Given the description of an element on the screen output the (x, y) to click on. 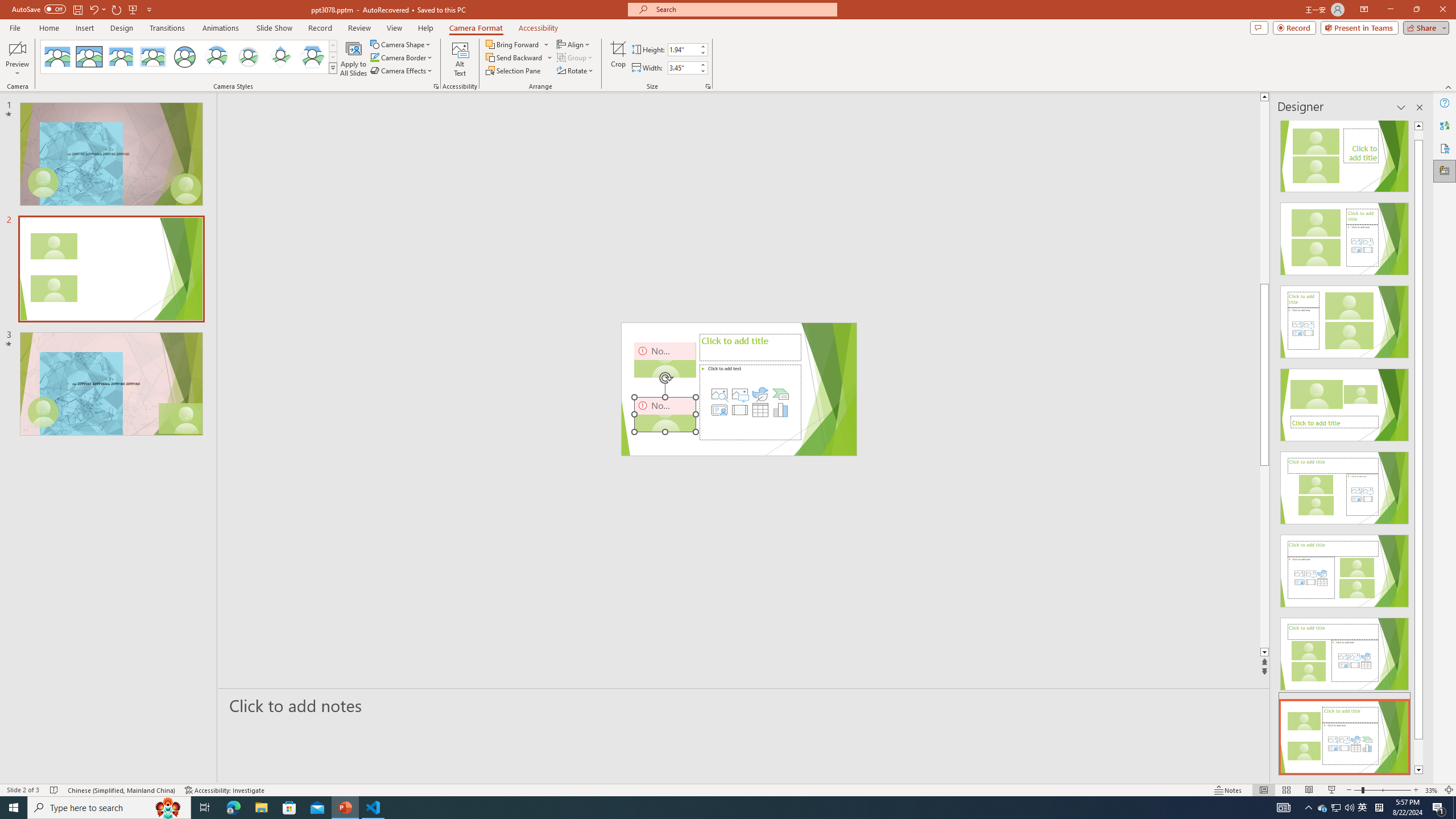
Camera Format (475, 28)
Rotate (575, 69)
No Style (57, 56)
Simple Frame Rectangle (88, 56)
